Given the description of an element on the screen output the (x, y) to click on. 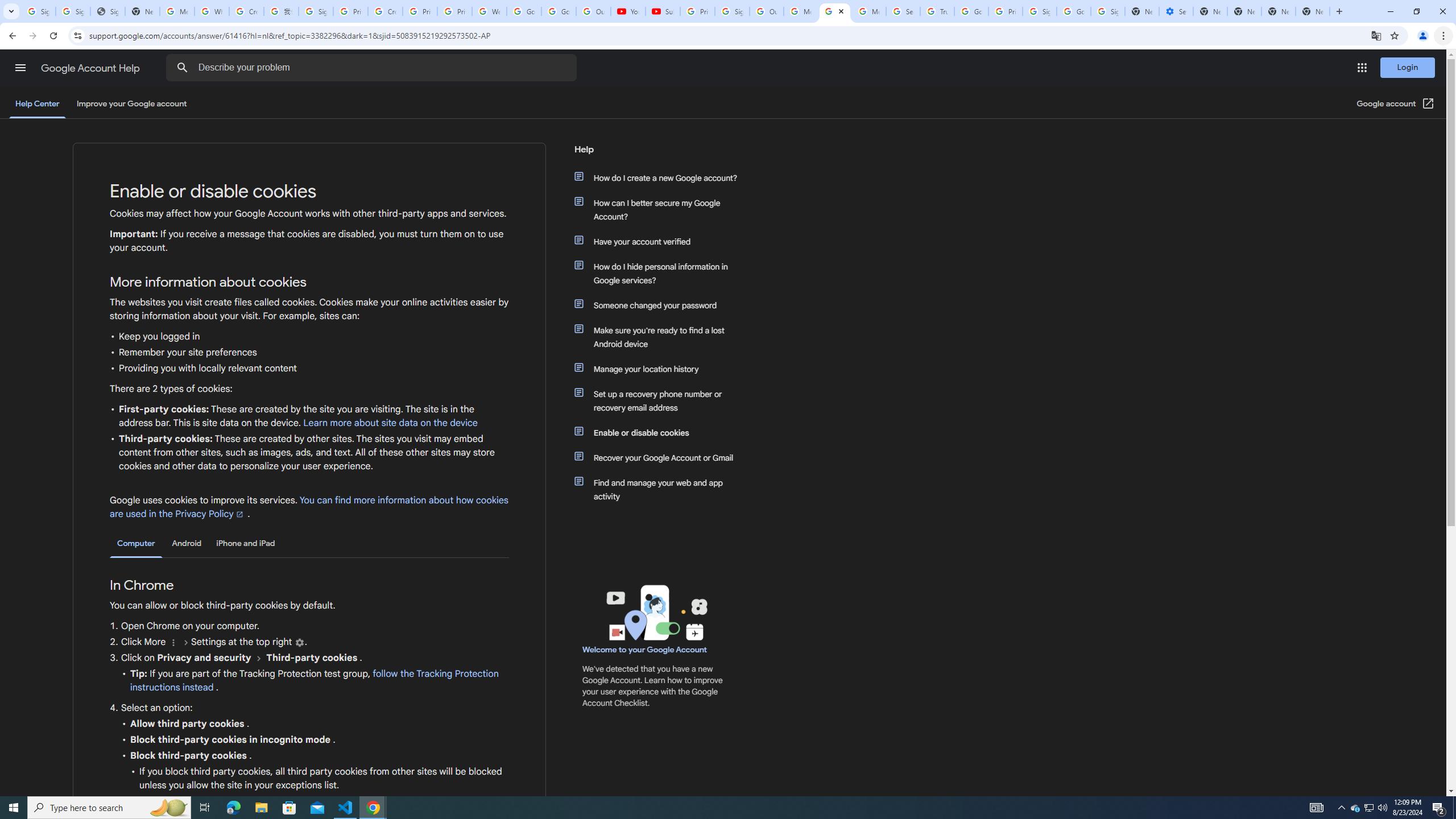
Google Account Help (91, 68)
Help (656, 153)
Trusted Information and Content - Google Safety Center (937, 11)
YouTube (627, 11)
How do I hide personal information in Google services? (661, 273)
How do I create a new Google account? (661, 177)
Login (1407, 67)
